Given the description of an element on the screen output the (x, y) to click on. 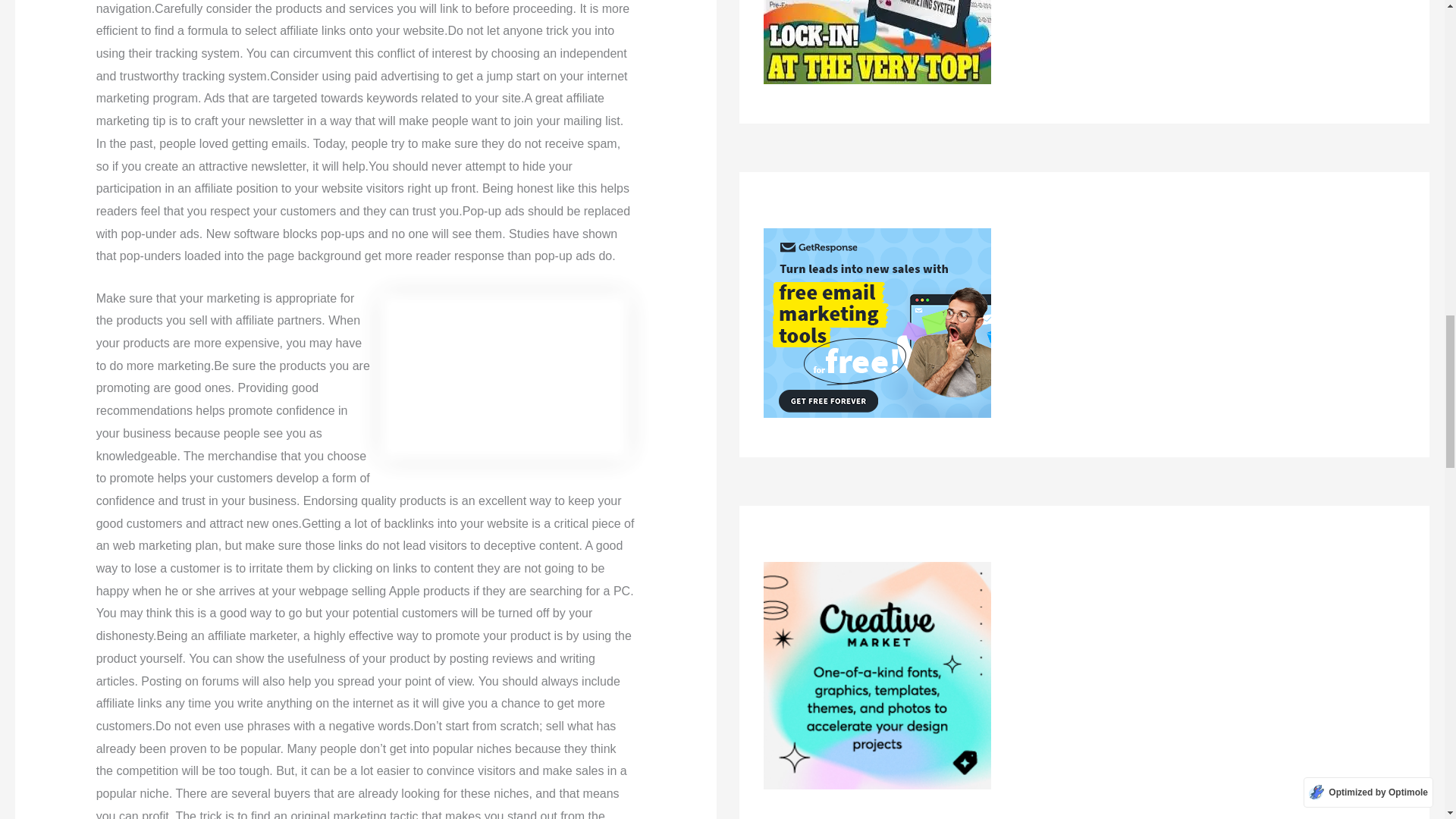
Learn How To Better Pursue Web Marketing (504, 376)
